Given the description of an element on the screen output the (x, y) to click on. 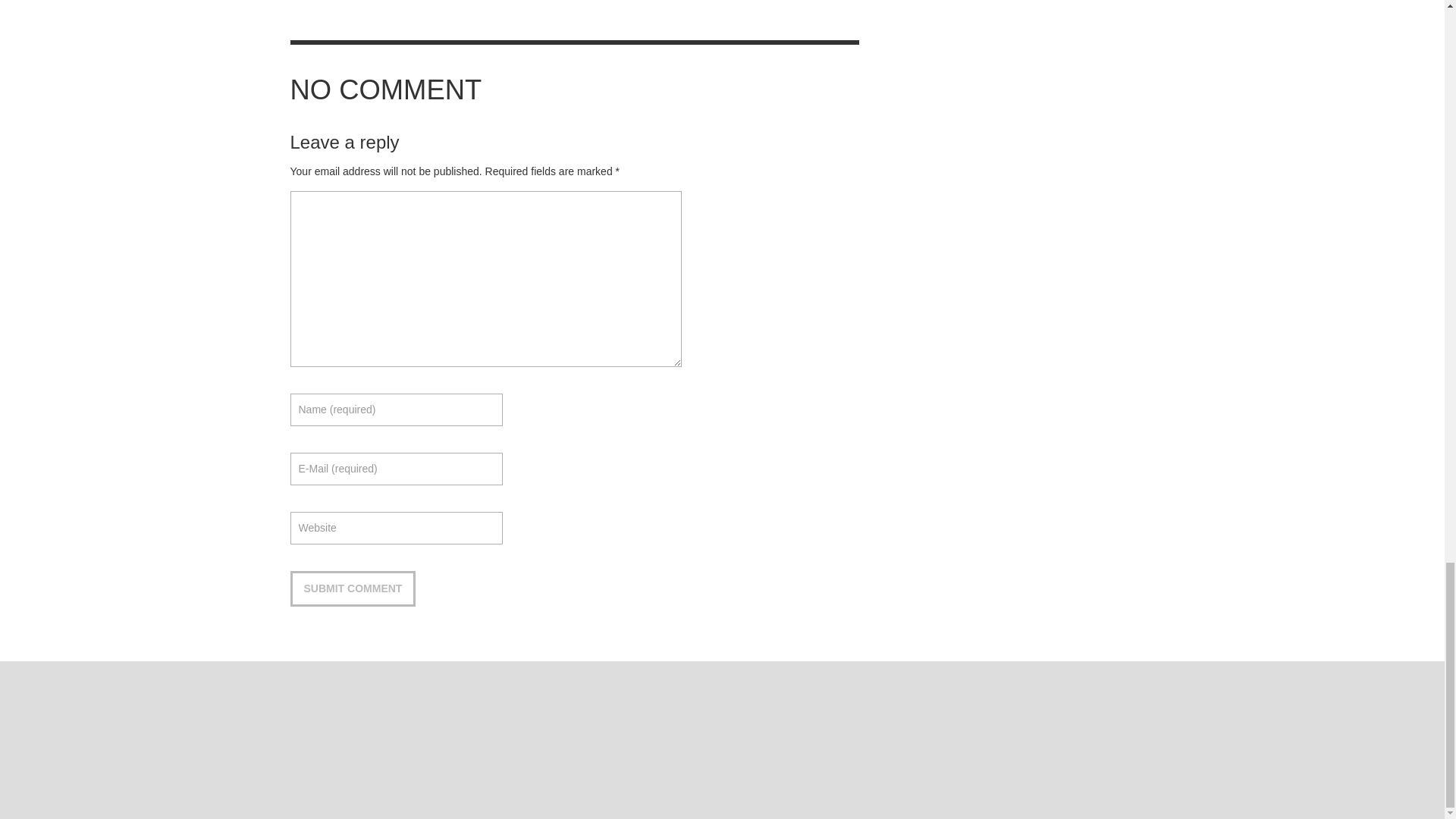
Submit comment (351, 588)
Website (395, 527)
